Given the description of an element on the screen output the (x, y) to click on. 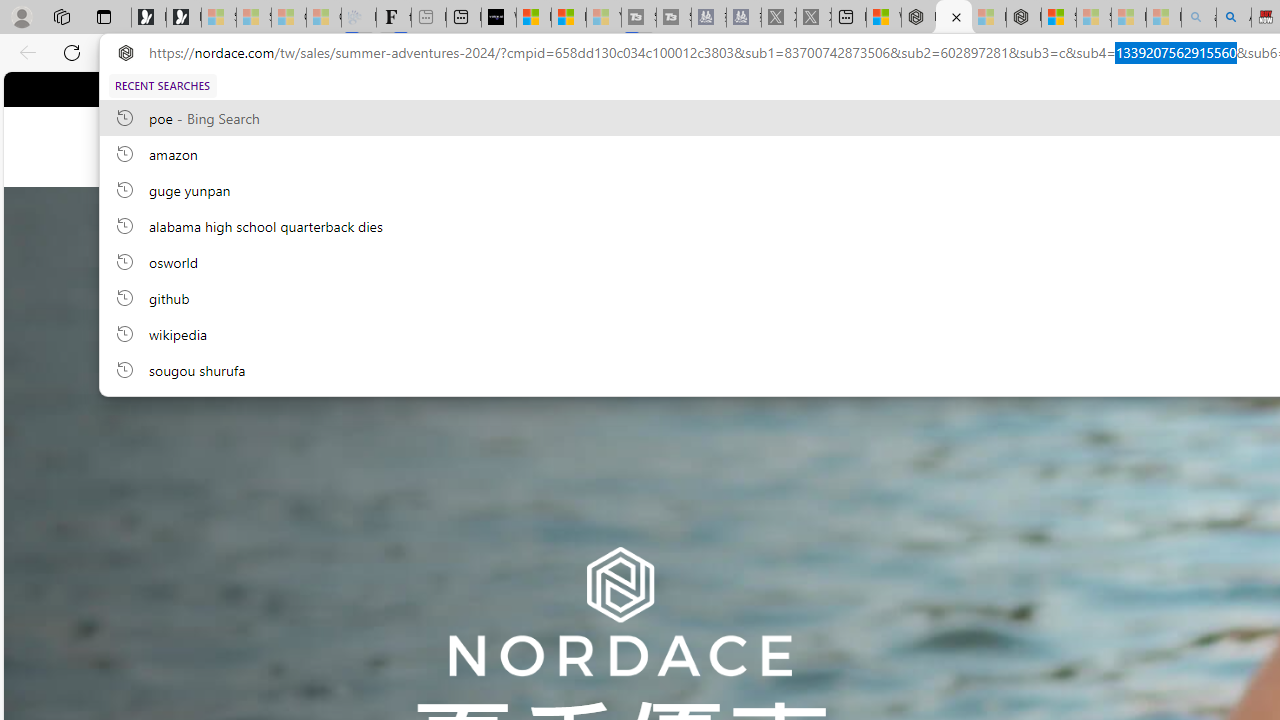
Personal Profile (21, 16)
Newsletter Sign Up (183, 17)
Refresh (72, 52)
Nordace - Summer Adventures 2024 (954, 17)
Nordace (659, 147)
Follow on Facebook (576, 88)
New tab (849, 17)
New tab - Sleeping (428, 17)
Follow on YouTube (653, 88)
What's the best AI voice generator? - voice.ai (498, 17)
